Given the description of an element on the screen output the (x, y) to click on. 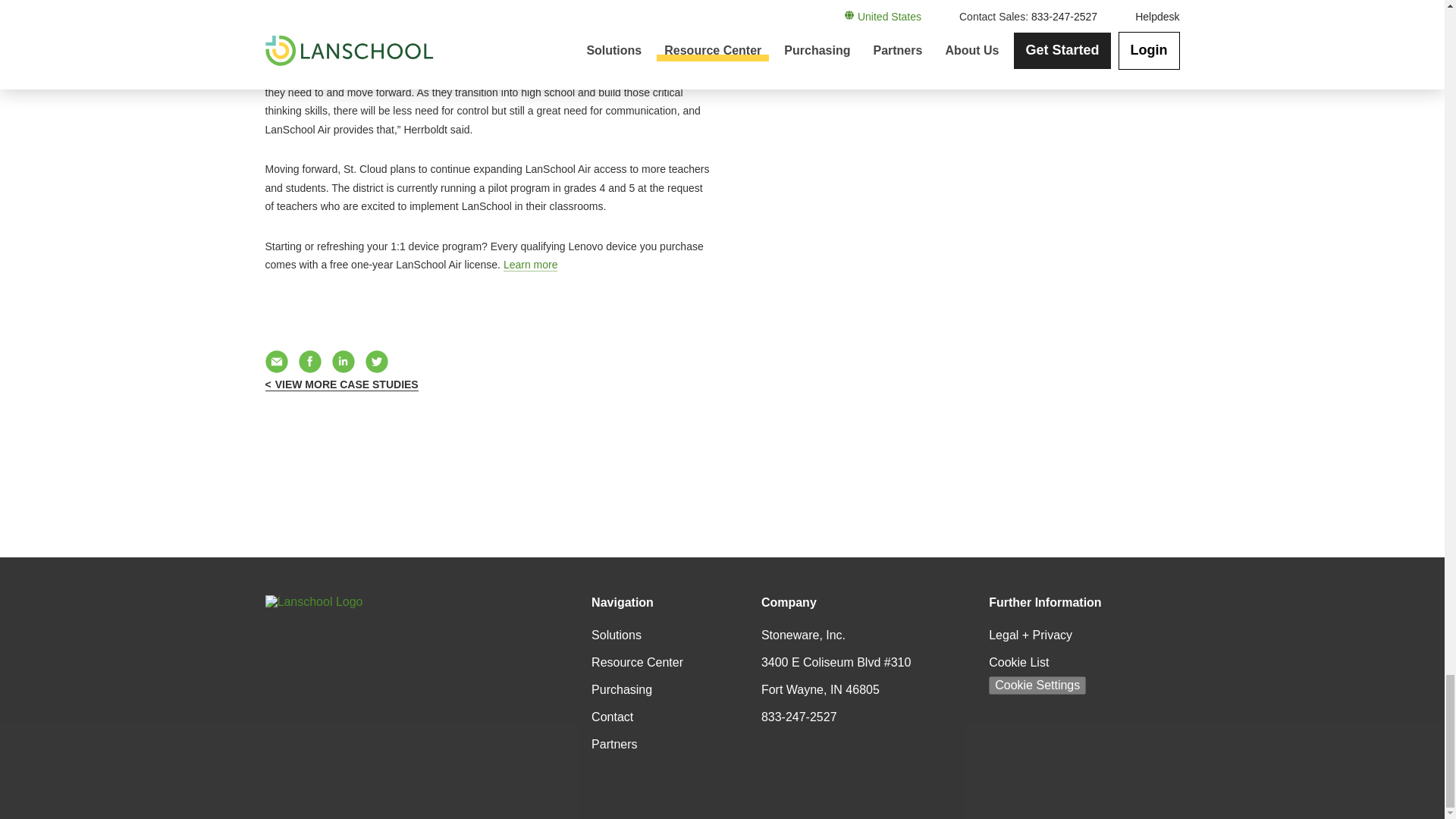
homepage (348, 611)
